Given the description of an element on the screen output the (x, y) to click on. 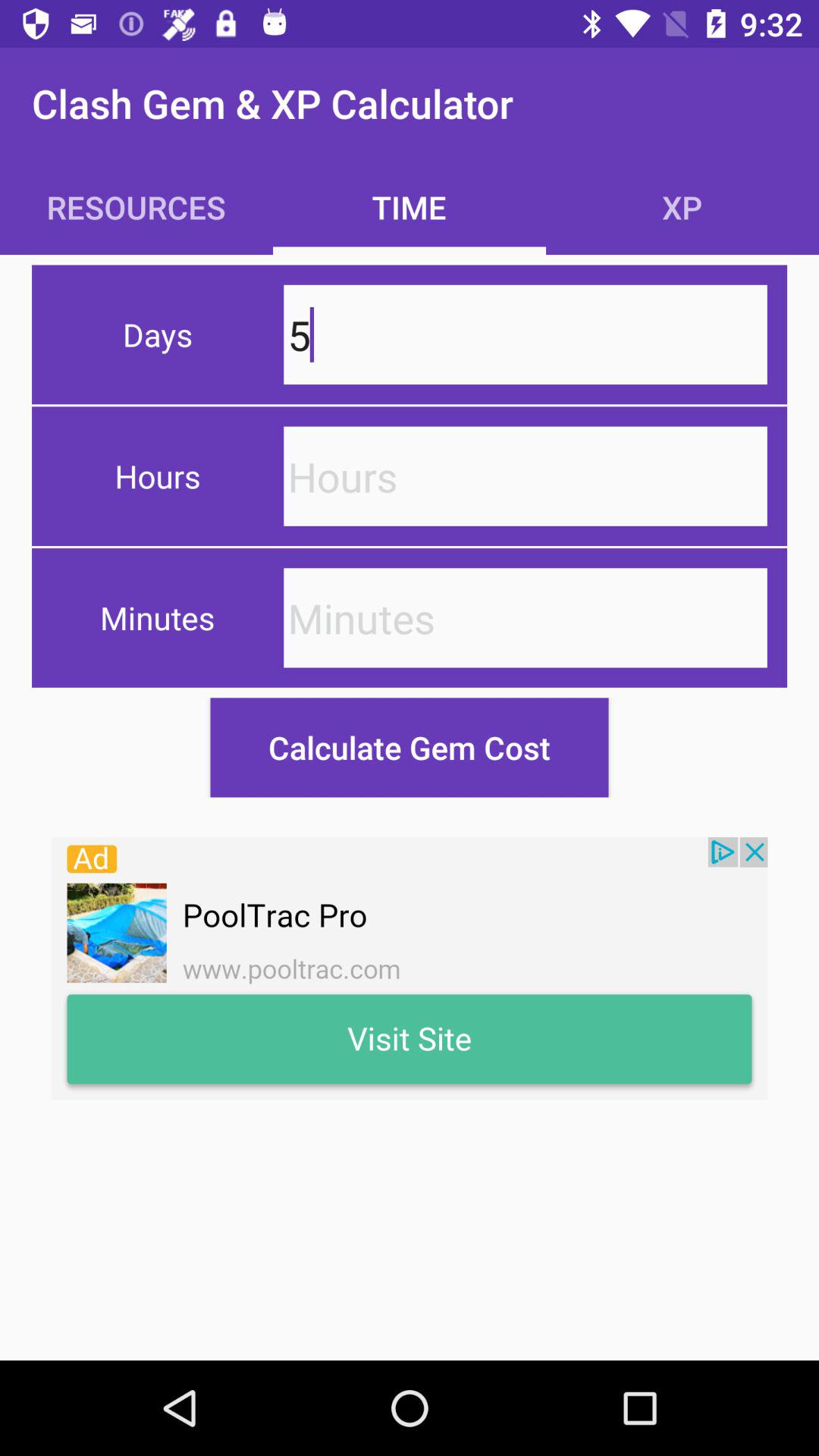
add information (525, 476)
